Given the description of an element on the screen output the (x, y) to click on. 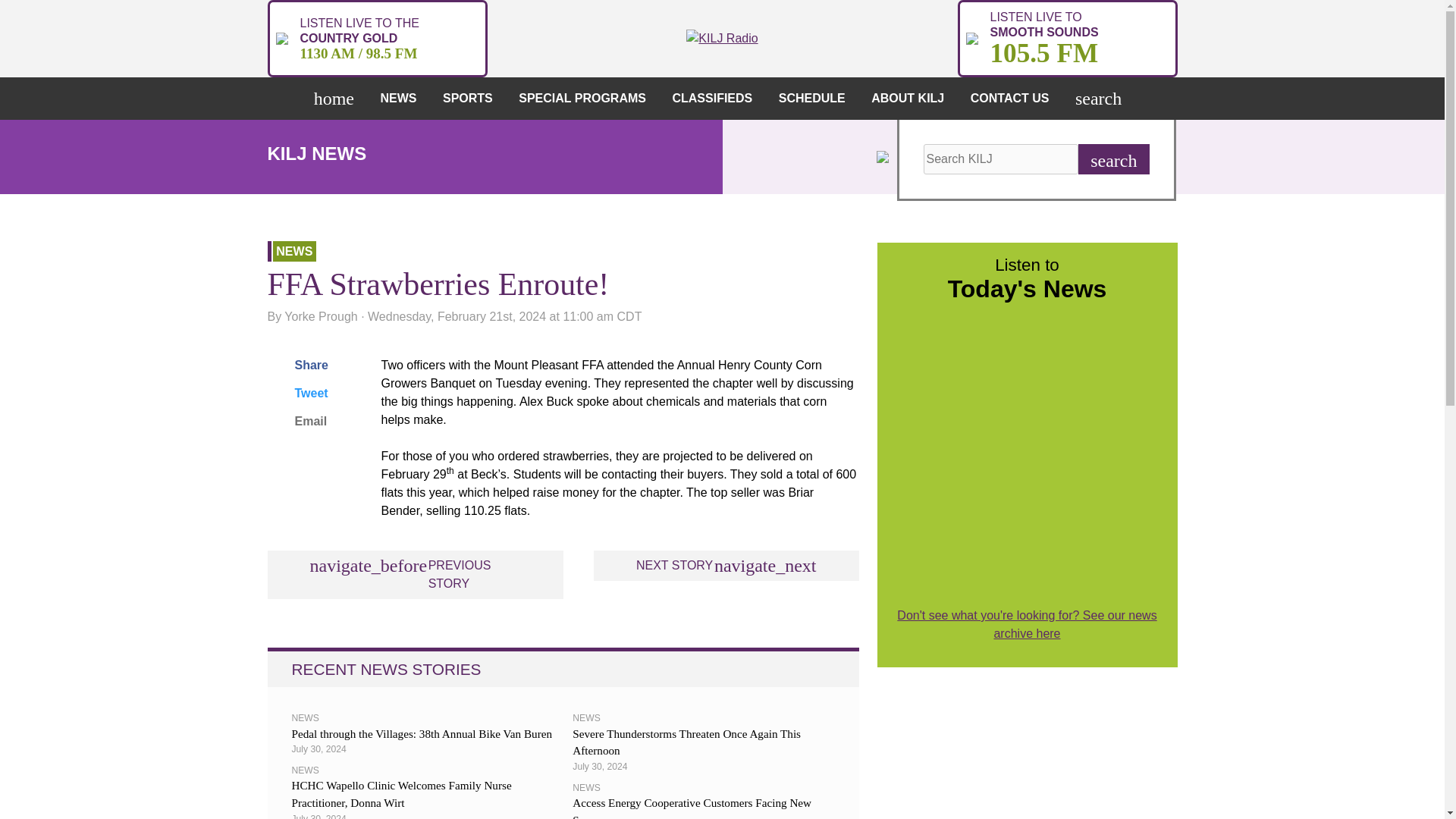
SPORTS (472, 97)
SPECIAL PROGRAMS (587, 97)
home (337, 97)
NEWS (402, 97)
